Given the description of an element on the screen output the (x, y) to click on. 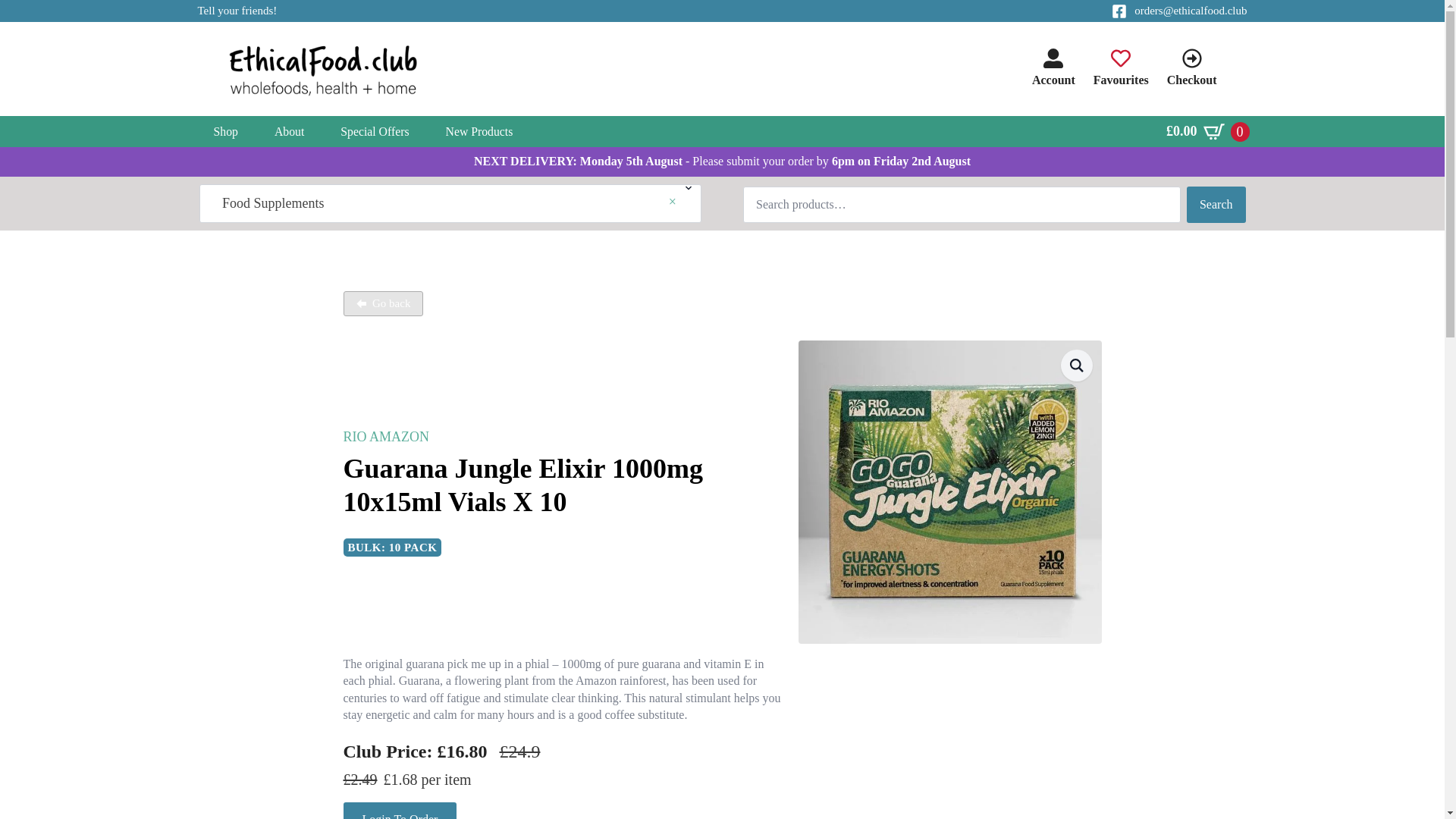
RIO AMAZON (385, 436)
Favourites (1120, 68)
About (288, 131)
Rio Amazon Guarana Jungle Elixir 1000mg 10x15ml Vials 1 (948, 491)
Account (1053, 68)
Search (1216, 204)
Shop (225, 131)
Login To Order (399, 810)
Go back (382, 303)
Special Offers (373, 131)
Checkout (1192, 68)
New Products (479, 131)
